Given the description of an element on the screen output the (x, y) to click on. 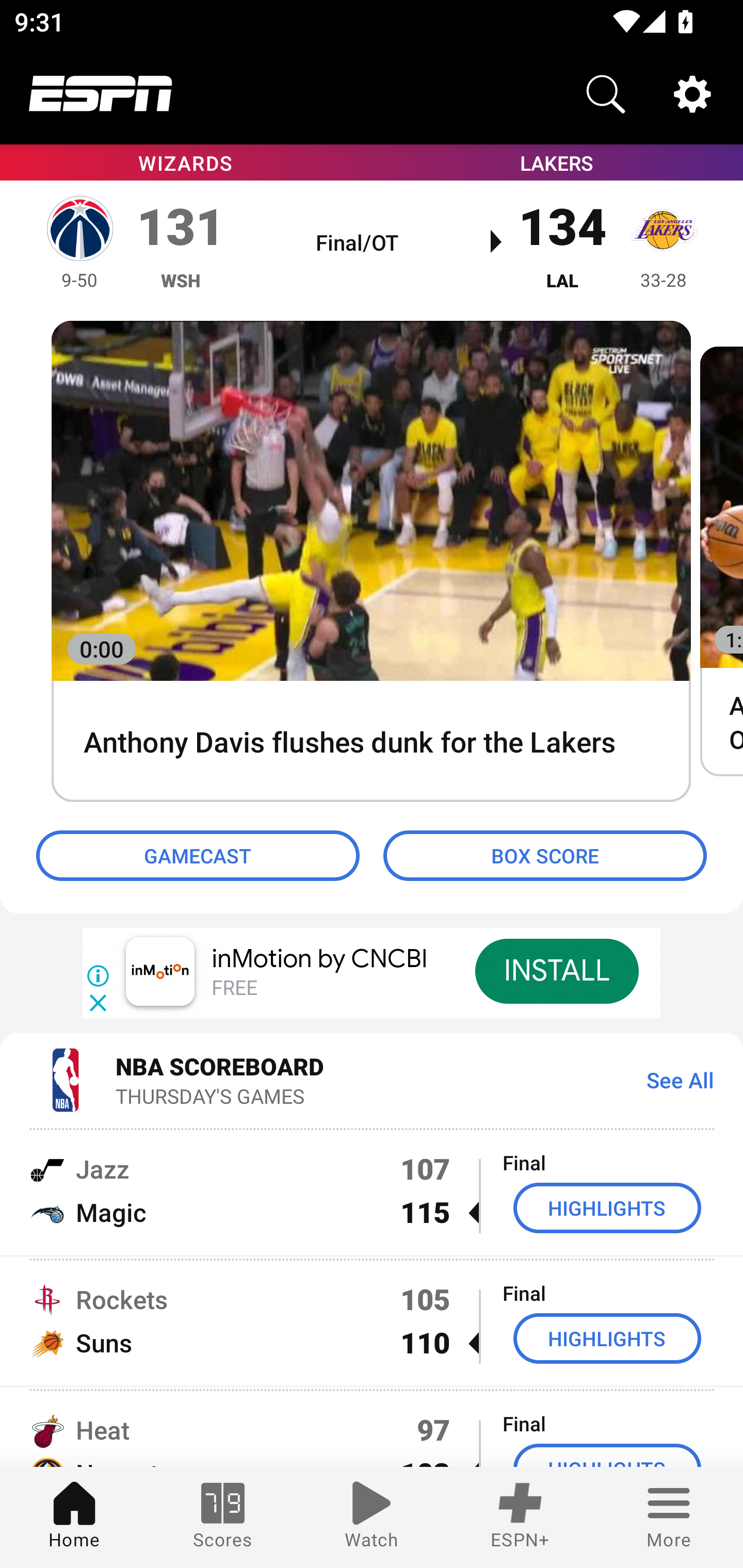
Search (605, 93)
Settings (692, 93)
0:00 Anthony Davis flushes dunk for the Lakers (370, 561)
GAMECAST (197, 856)
BOX SCORE (544, 856)
INSTALL (556, 971)
inMotion by CNCBI (319, 959)
FREE (234, 988)
NBA SCOREBOARD THURSDAY'S GAMES See All (371, 1079)
Jazz 107 Final Magic 115  HIGHLIGHTS (371, 1189)
HIGHLIGHTS (607, 1208)
Rockets 105 Final Suns 110  HIGHLIGHTS (371, 1321)
HIGHLIGHTS (607, 1338)
Heat 97 Final Nuggets 103  HIGHLIGHTS (371, 1427)
Scores (222, 1517)
Watch (371, 1517)
ESPN+ (519, 1517)
More (668, 1517)
